Given the description of an element on the screen output the (x, y) to click on. 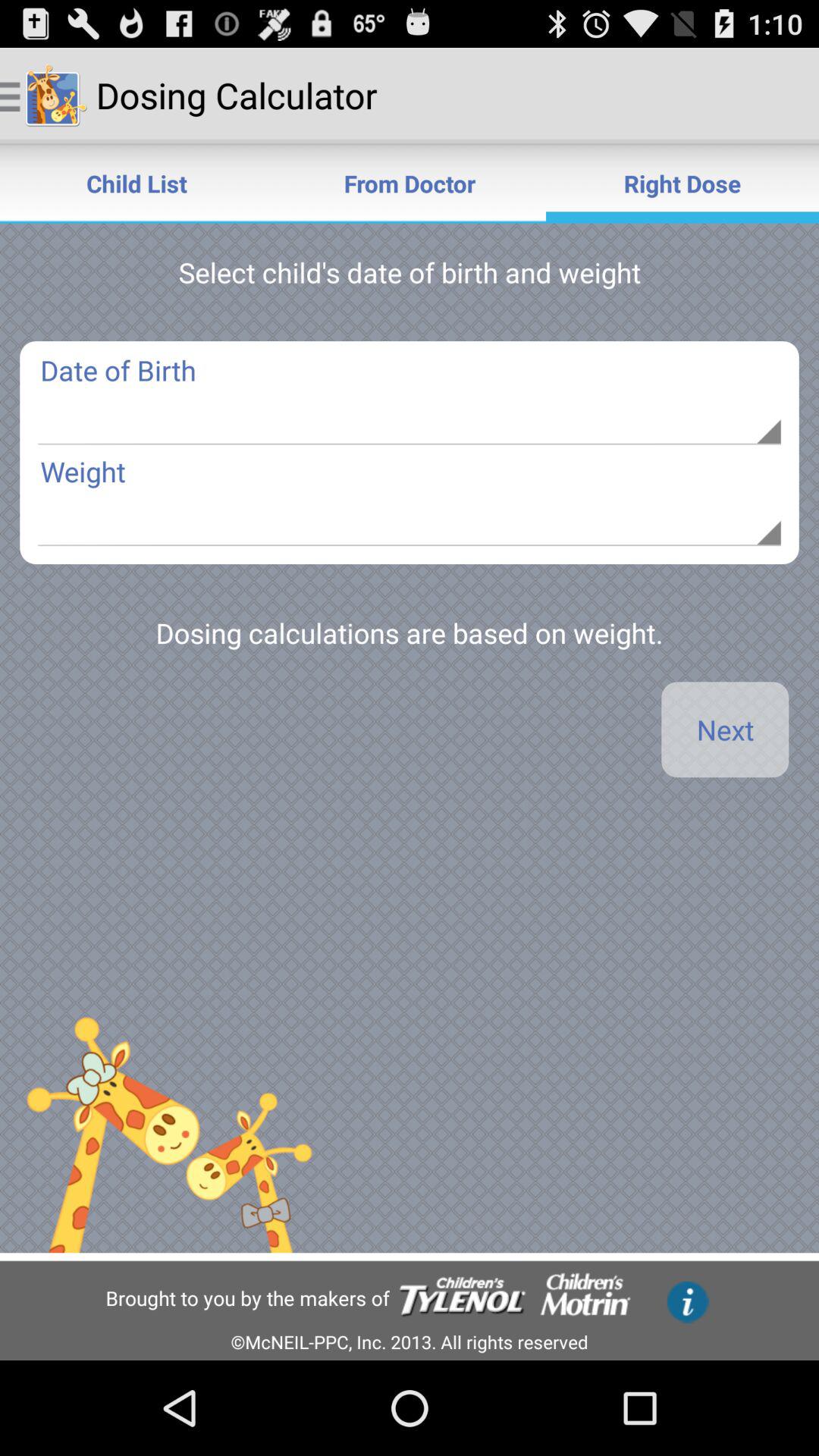
turn on item below the dosing calculator (409, 183)
